Given the description of an element on the screen output the (x, y) to click on. 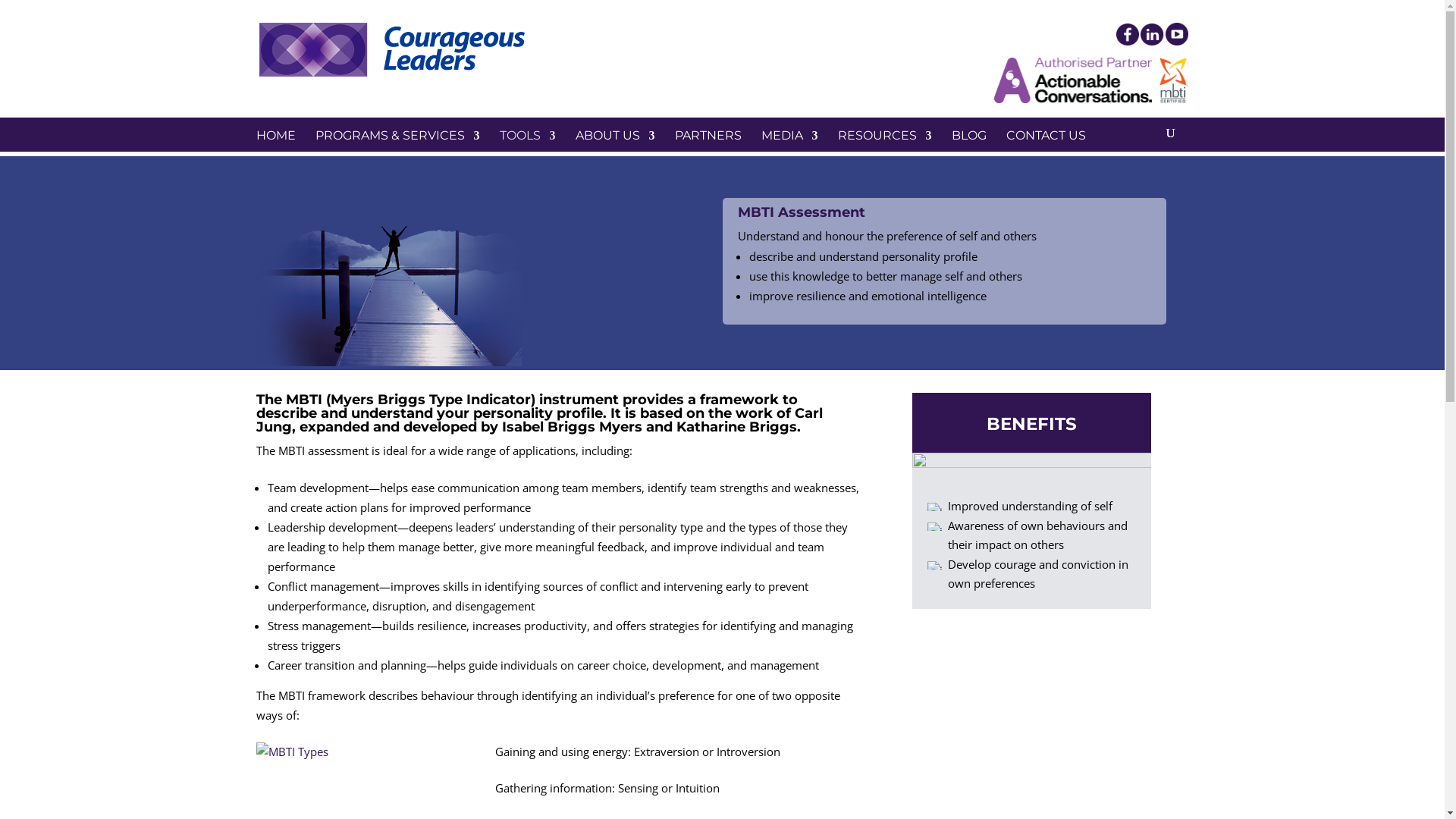
ABOUT US Element type: text (614, 152)
MEDIA Element type: text (789, 152)
PARTNERS Element type: text (707, 152)
RESOURCES Element type: text (884, 152)
CONTACT US Element type: text (1045, 152)
BLOG Element type: text (967, 152)
PROGRAMS & SERVICES Element type: text (397, 152)
HOME Element type: text (275, 152)
TOOLS Element type: text (526, 152)
